Given the description of an element on the screen output the (x, y) to click on. 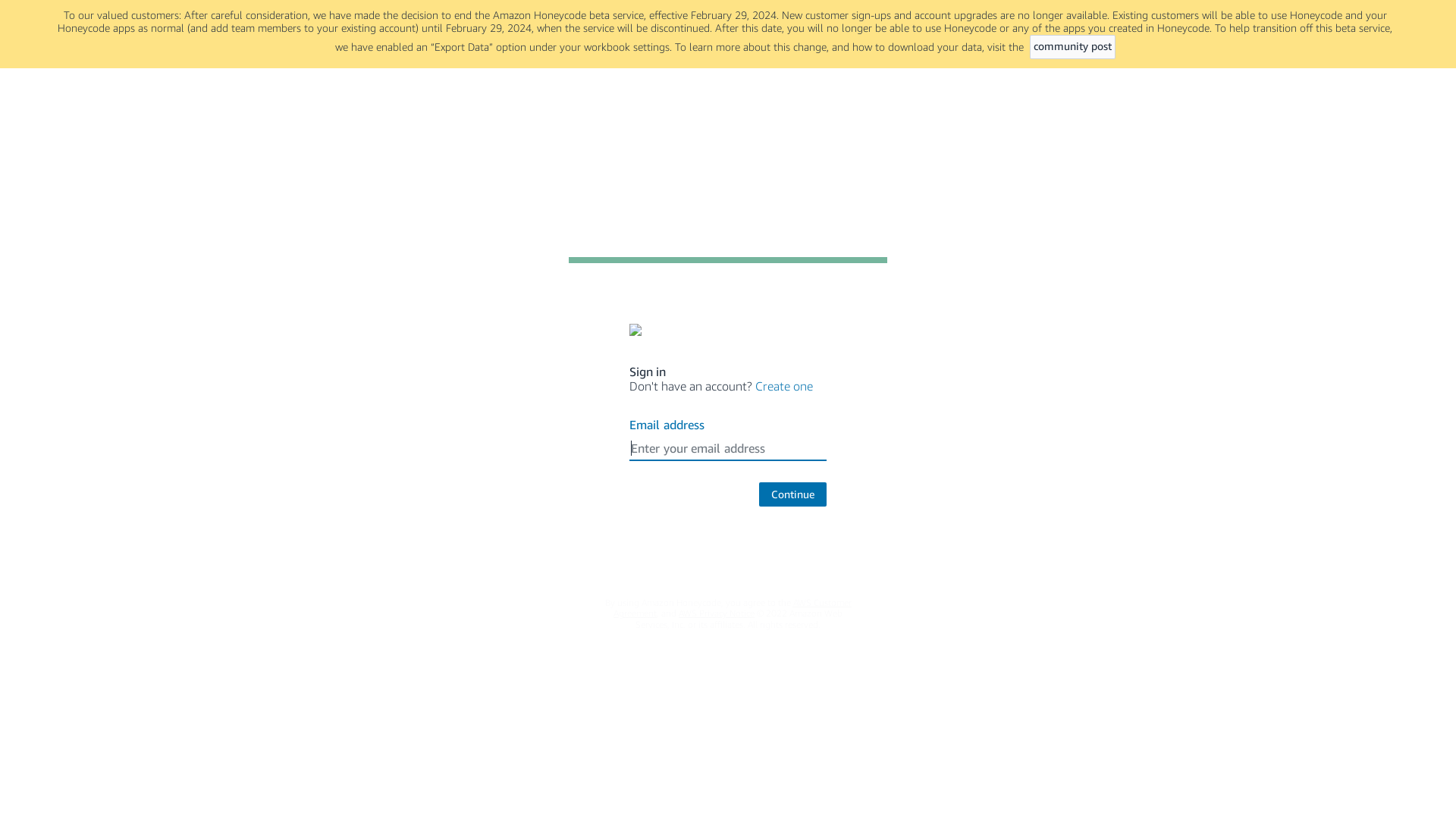
Create one Element type: text (783, 385)
AWS Privacy Notice Element type: text (716, 612)
community post Element type: text (1072, 46)
AWS Customer Agreement Element type: text (732, 607)
Continue Element type: text (792, 494)
